Given the description of an element on the screen output the (x, y) to click on. 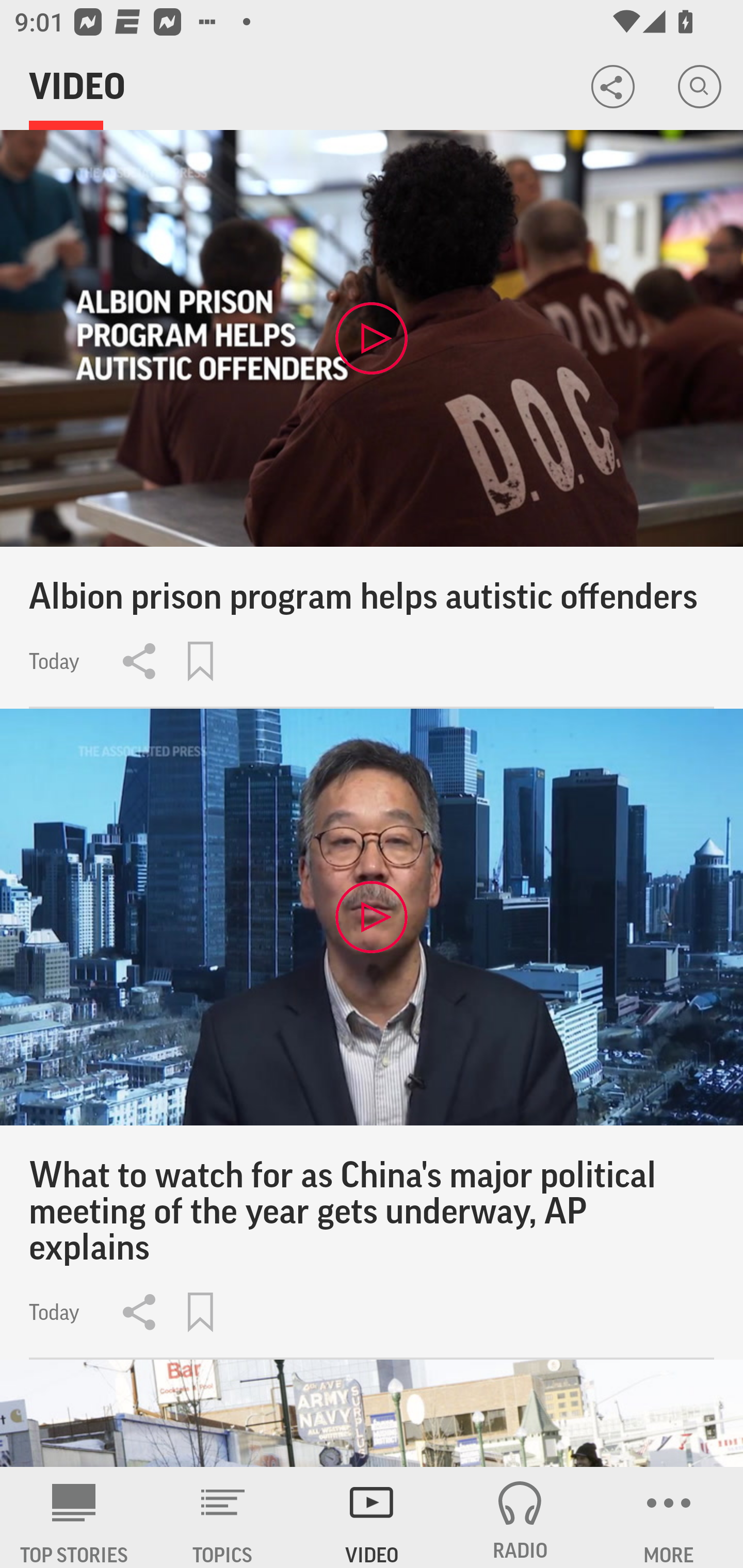
AP News TOP STORIES (74, 1517)
TOPICS (222, 1517)
VIDEO (371, 1517)
RADIO (519, 1517)
MORE (668, 1517)
